Given the description of an element on the screen output the (x, y) to click on. 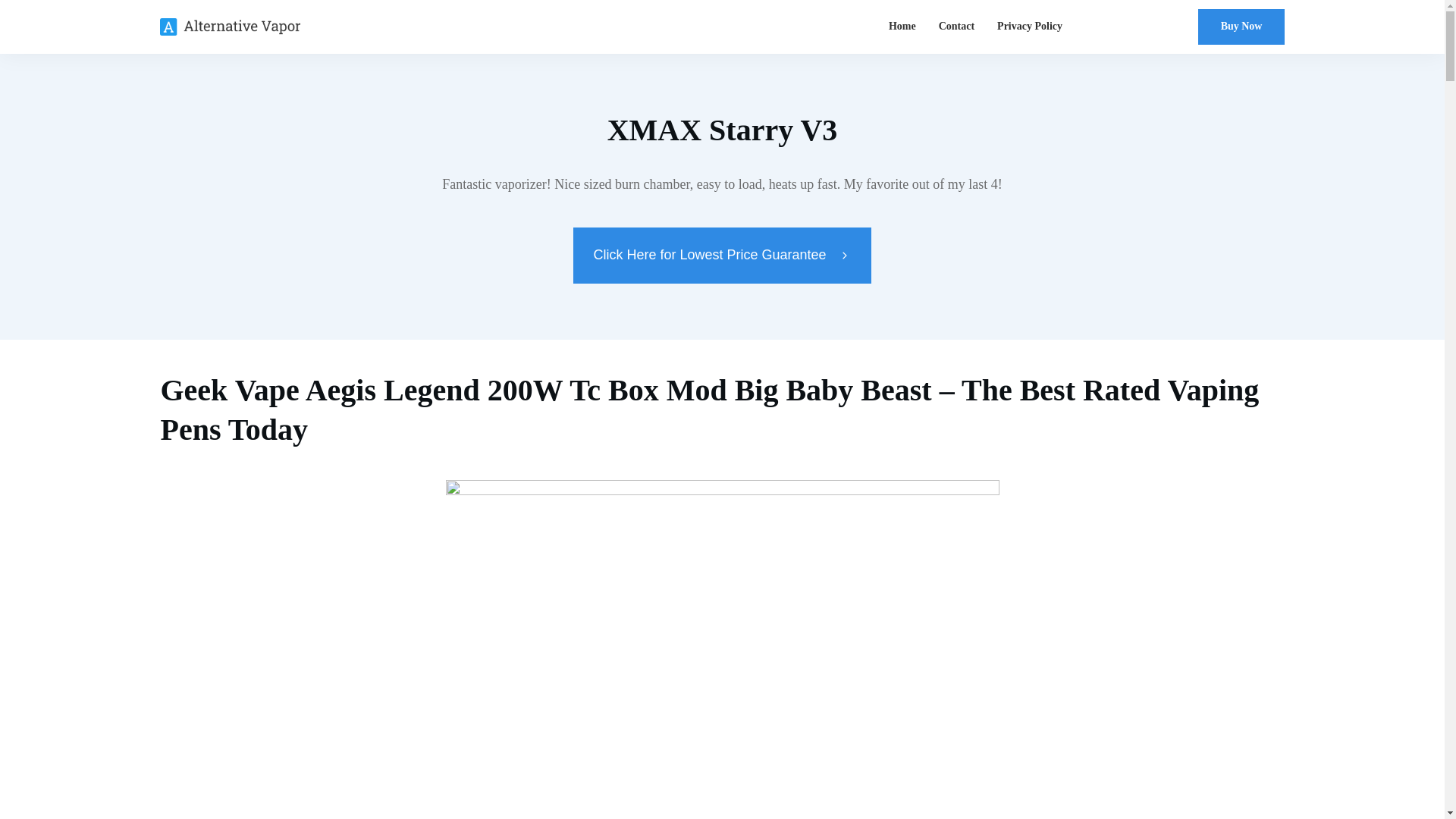
Click Here for Lowest Price Guarantee (721, 255)
Buy Now (1241, 27)
Privacy Policy (1029, 25)
Contact (956, 25)
Home (901, 25)
